Given the description of an element on the screen output the (x, y) to click on. 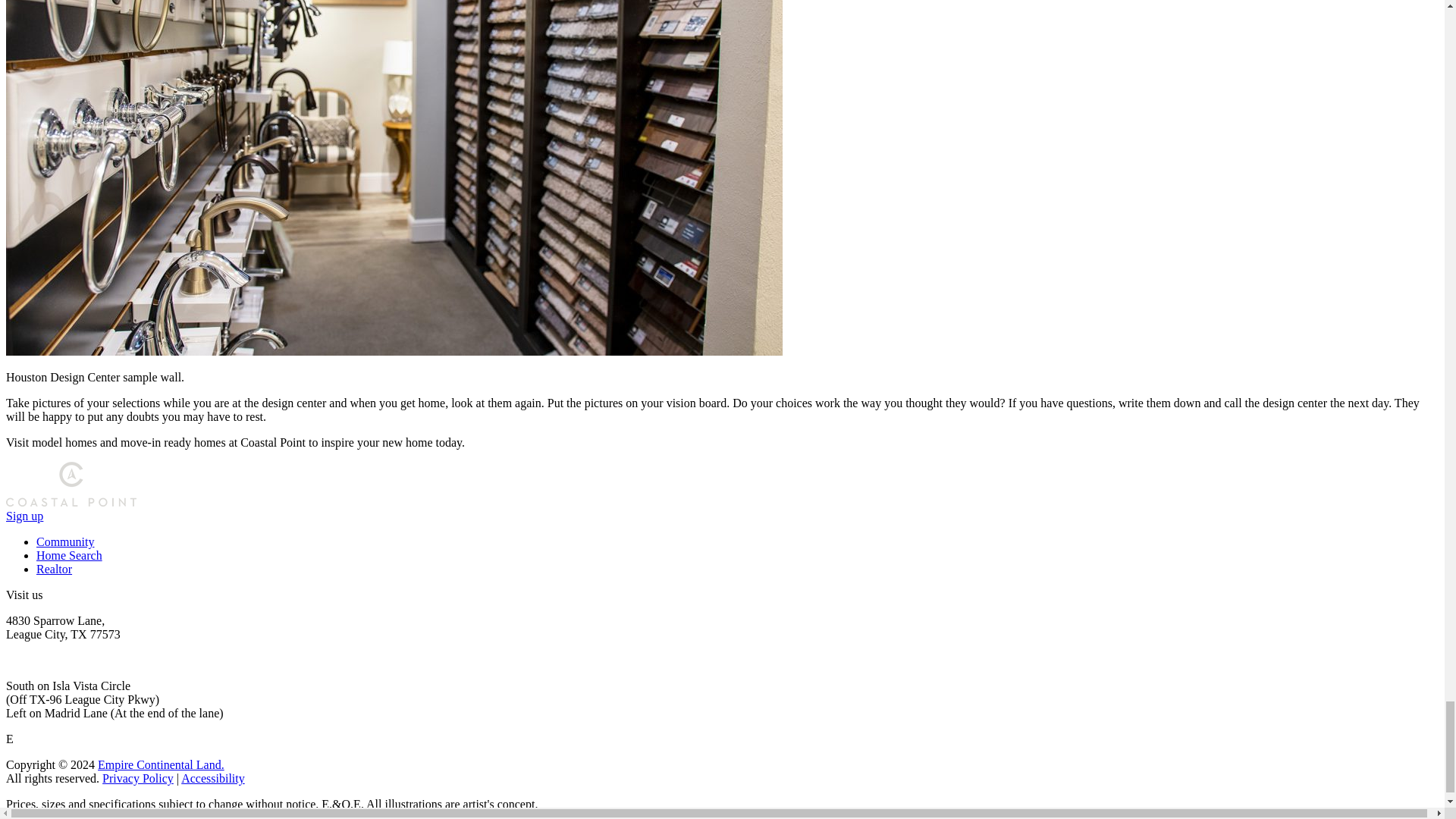
Community (65, 541)
Realtor (53, 568)
Sign up (24, 515)
Home Search (68, 554)
